Given the description of an element on the screen output the (x, y) to click on. 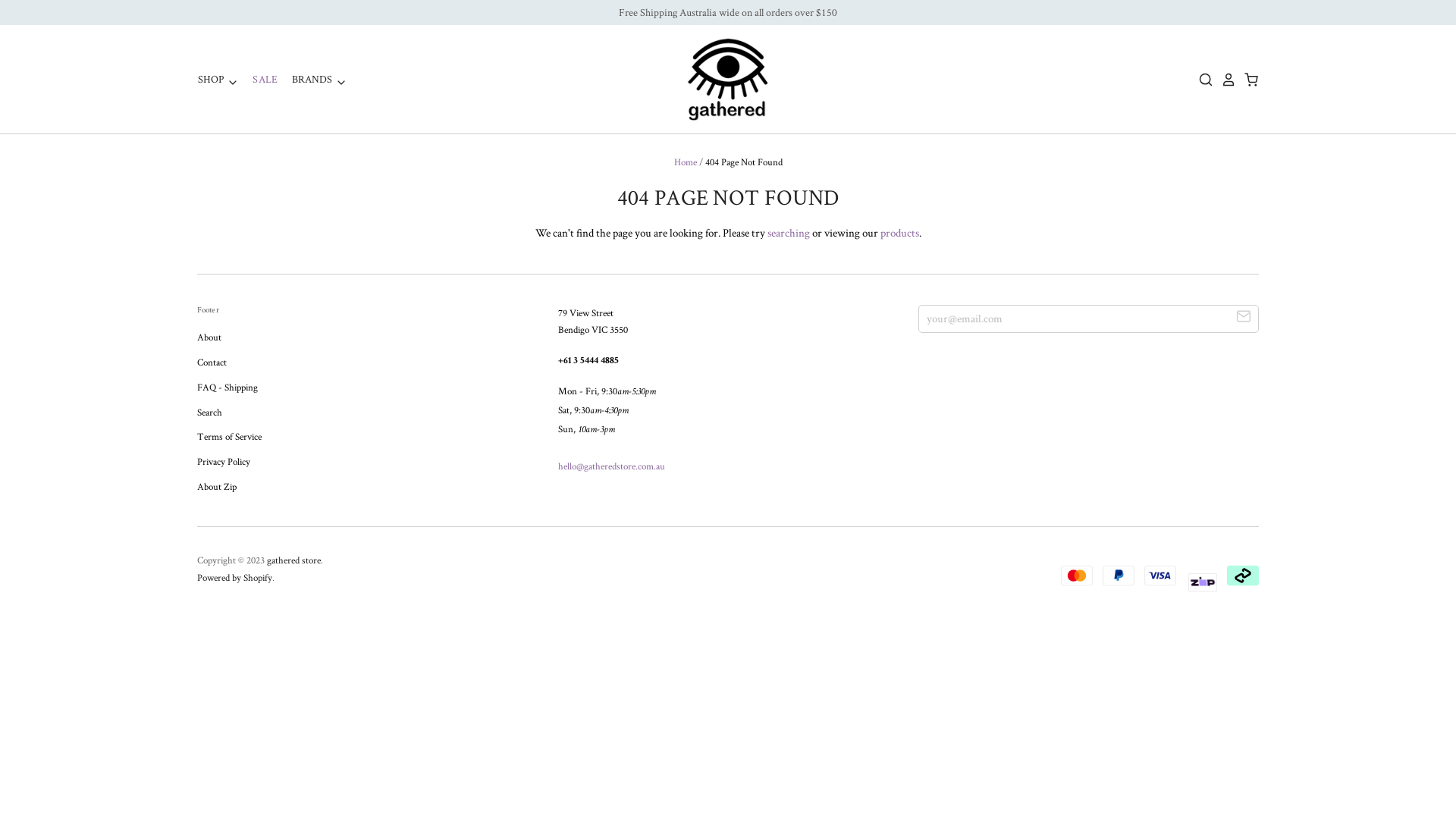
Privacy Policy Element type: text (223, 461)
About Zip Element type: text (216, 486)
About Element type: text (209, 336)
hello@gatheredstore.com.au Element type: text (611, 465)
Powered by Shopify Element type: text (234, 577)
SHOP Element type: text (218, 79)
products Element type: text (898, 232)
searching Element type: text (788, 232)
Contact Element type: text (211, 361)
gathered store Element type: text (293, 559)
FAQ - Shipping Element type: text (227, 386)
Search Element type: text (209, 411)
Terms of Service Element type: text (229, 435)
Home Element type: text (684, 161)
SALE Element type: text (258, 79)
BRANDS Element type: text (313, 79)
